Given the description of an element on the screen output the (x, y) to click on. 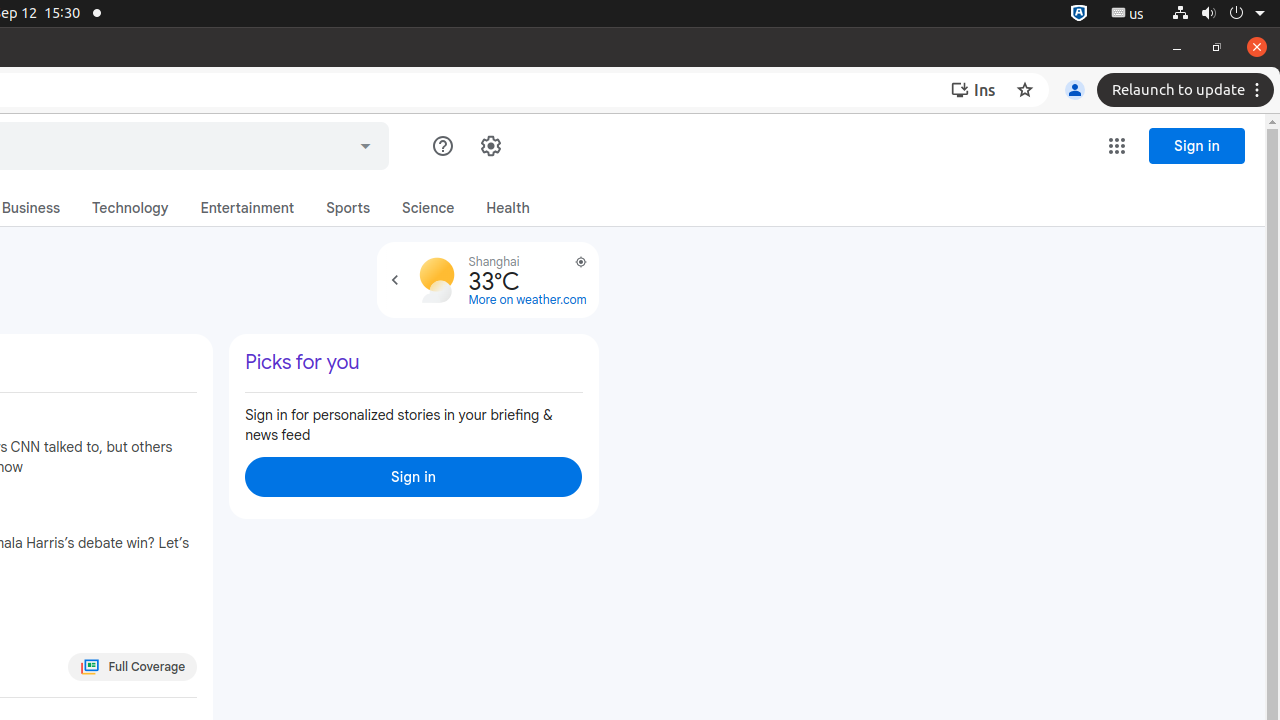
You Element type: push-button (1075, 90)
Business Element type: menu-item (31, 208)
